Given the description of an element on the screen output the (x, y) to click on. 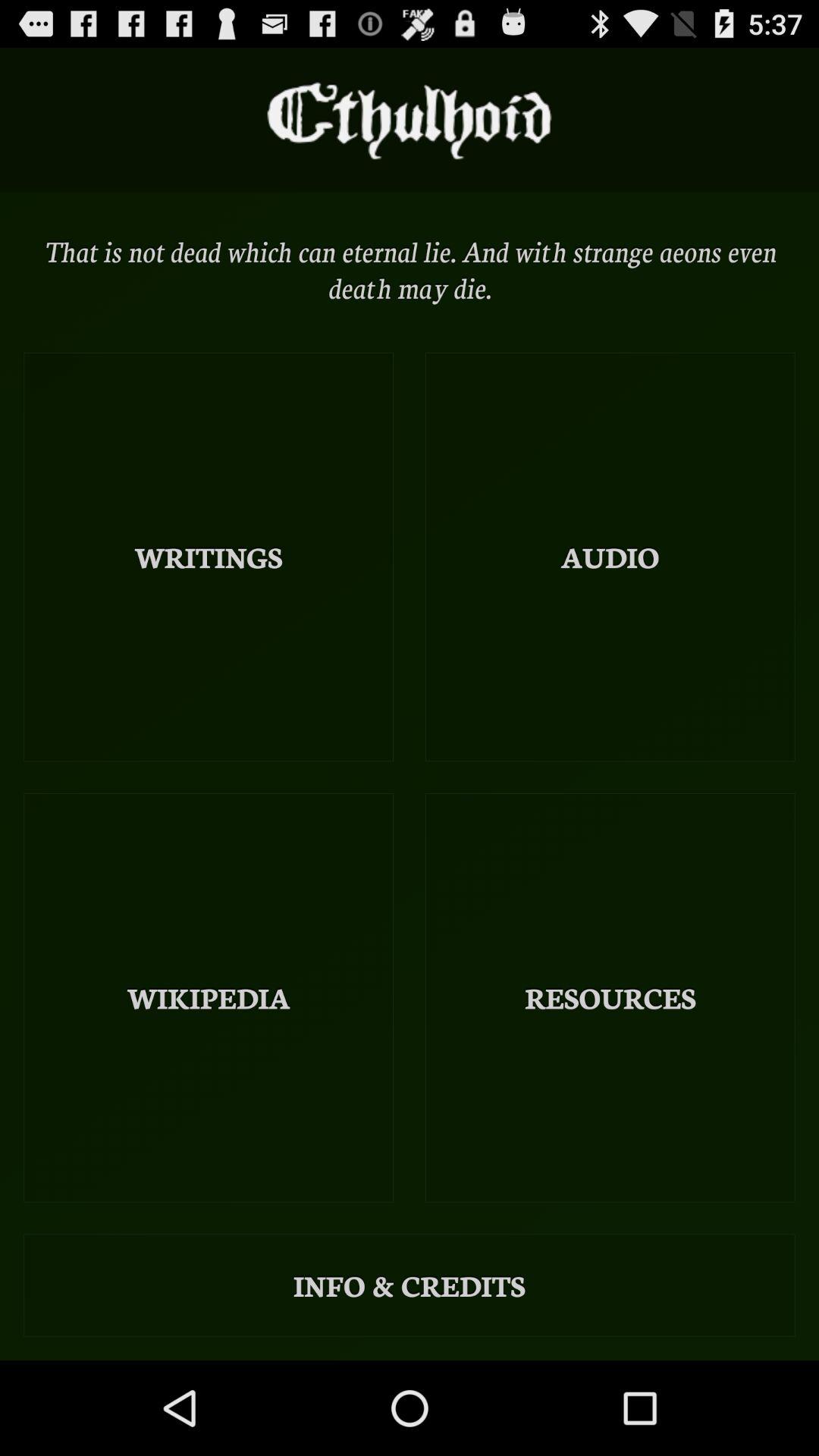
select the item next to the wikipedia item (610, 997)
